Given the description of an element on the screen output the (x, y) to click on. 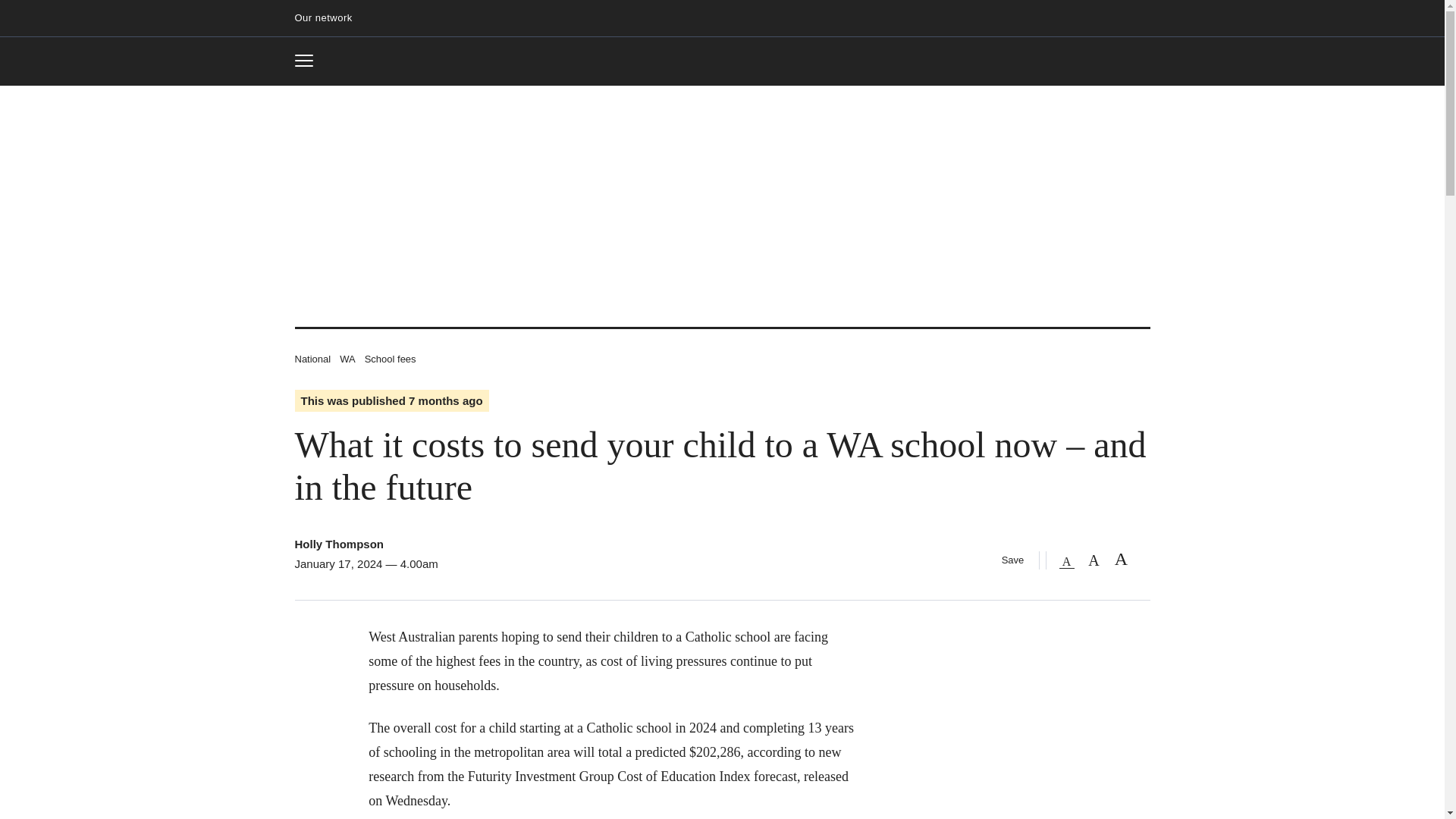
Our network (329, 17)
School fees (390, 358)
WA (347, 358)
Brisbane Times (309, 60)
Articles by Holly Thompson (722, 61)
National (339, 543)
